Given the description of an element on the screen output the (x, y) to click on. 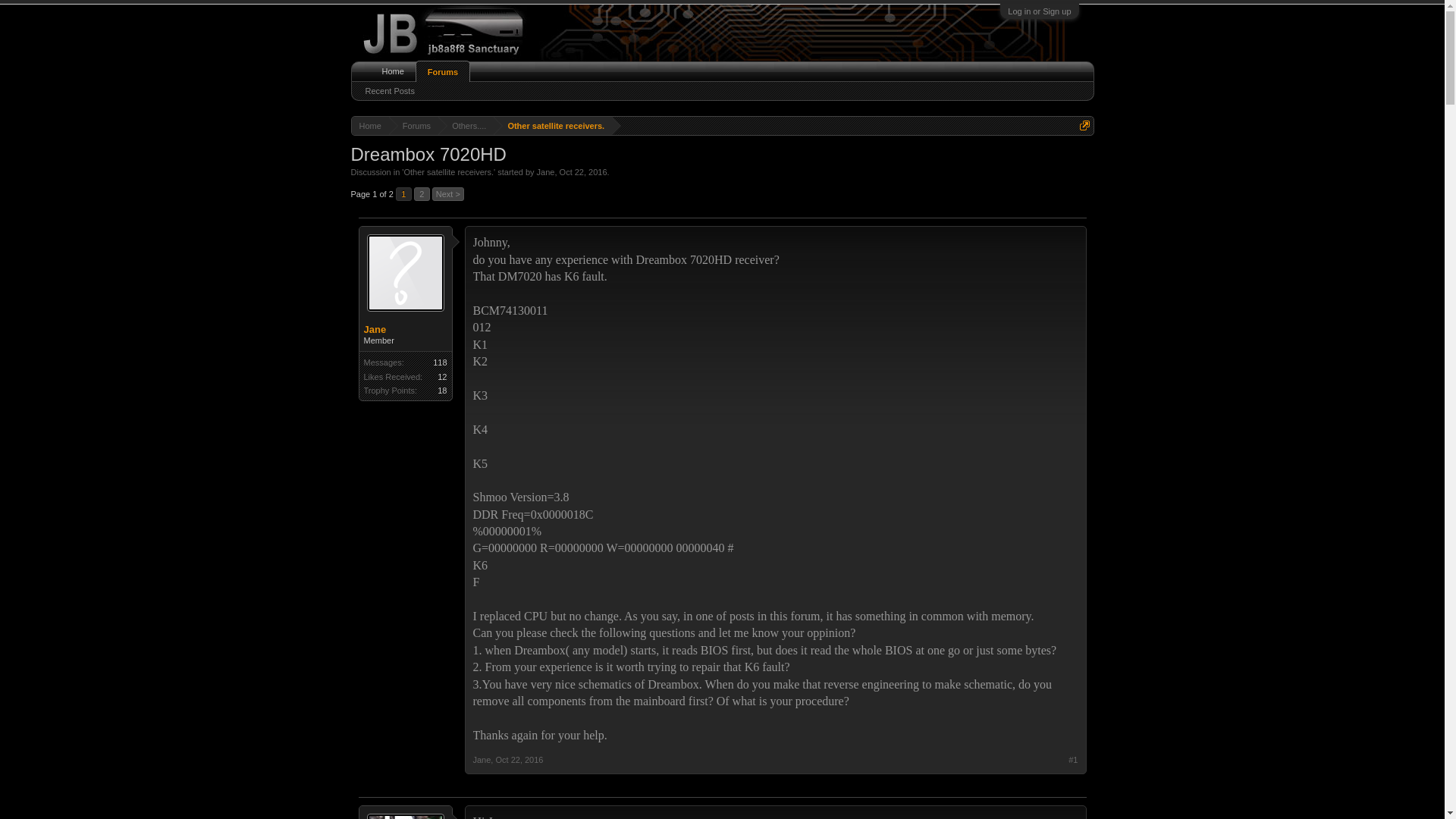
1 (404, 193)
118 (439, 361)
Oct 22, 2016 at 7:22 PM (583, 171)
Other satellite receivers. (448, 171)
Others.... (465, 126)
Jane (405, 329)
Permalink (519, 759)
Home (370, 126)
Oct 22, 2016 (519, 759)
18 (442, 389)
Jane (545, 171)
Open quick navigation (1084, 125)
Oct 22, 2016 (583, 171)
Jane (482, 759)
Log in or Sign up (1038, 10)
